Given the description of an element on the screen output the (x, y) to click on. 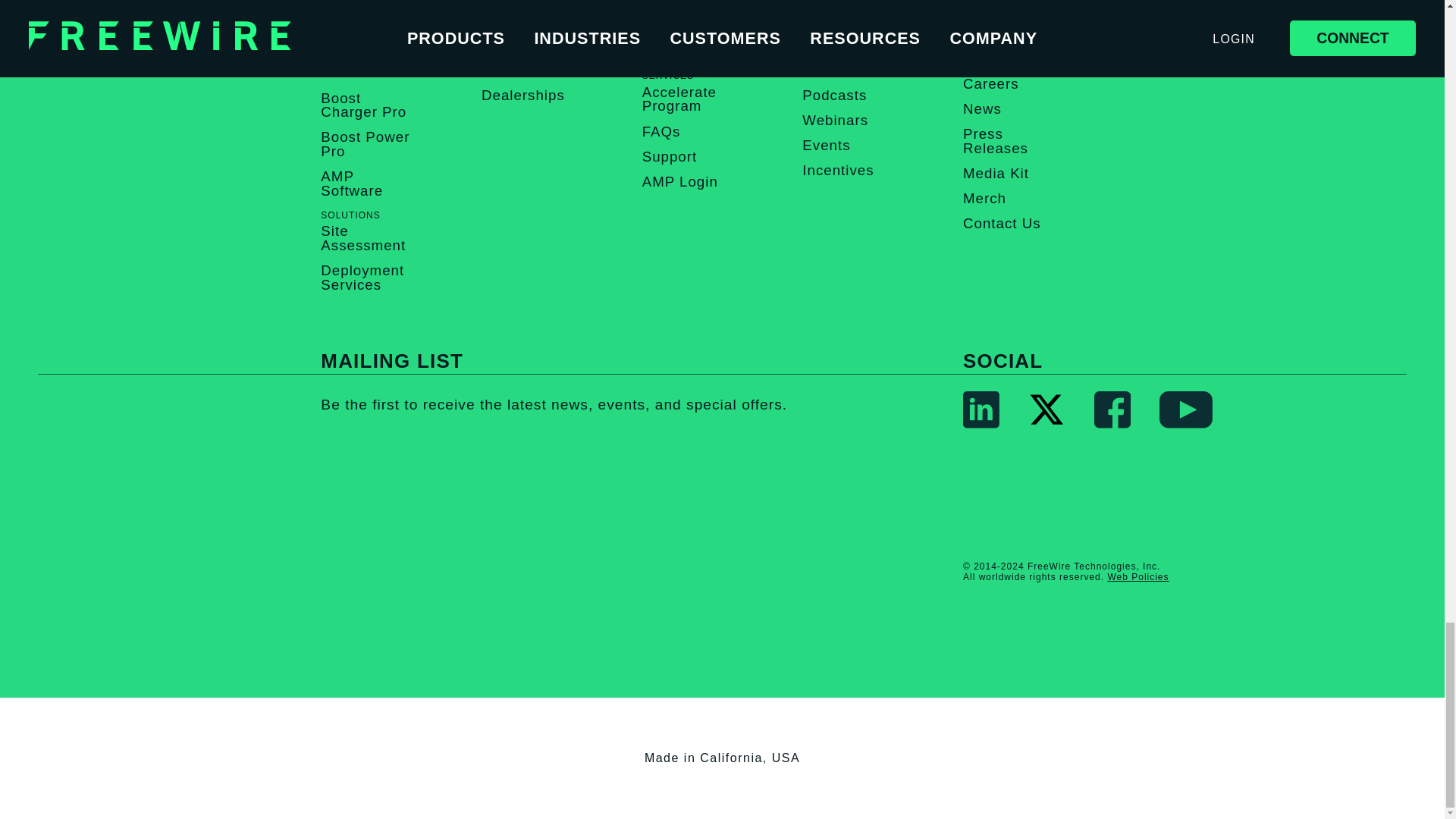
Form 0 (561, 536)
